Given the description of an element on the screen output the (x, y) to click on. 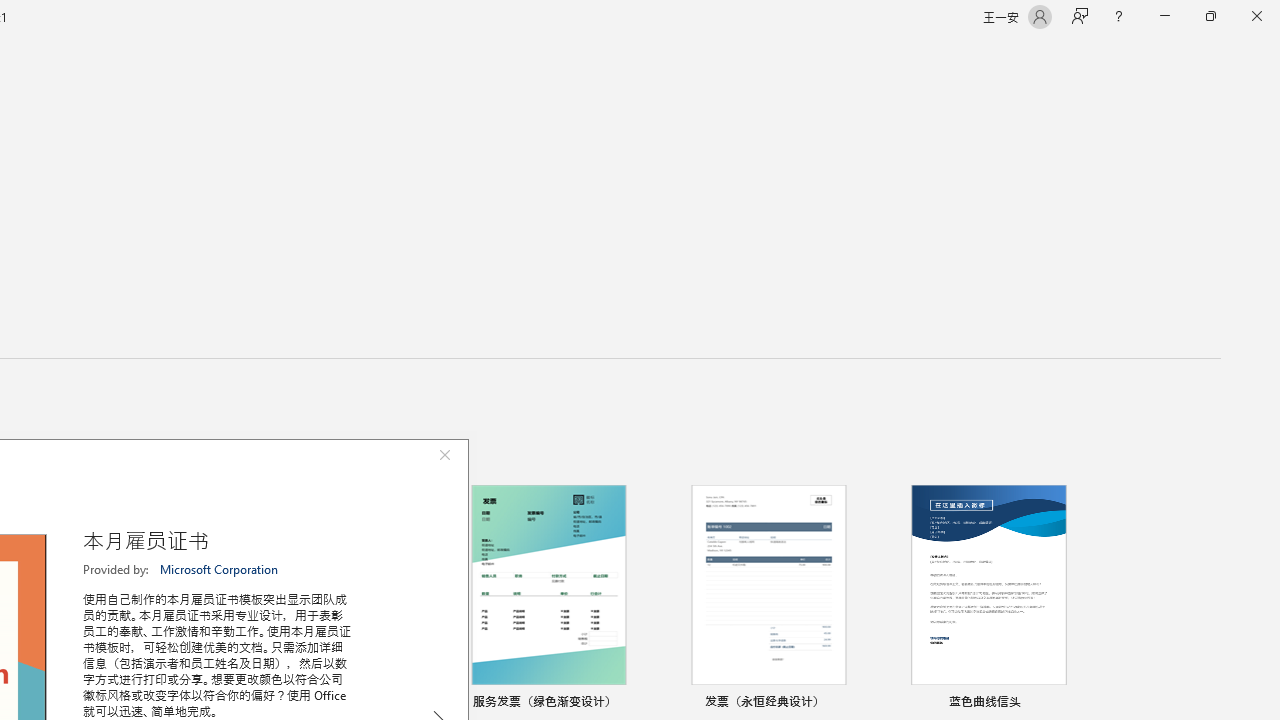
Microsoft Corporation (220, 569)
Pin to list (1075, 703)
